Given the description of an element on the screen output the (x, y) to click on. 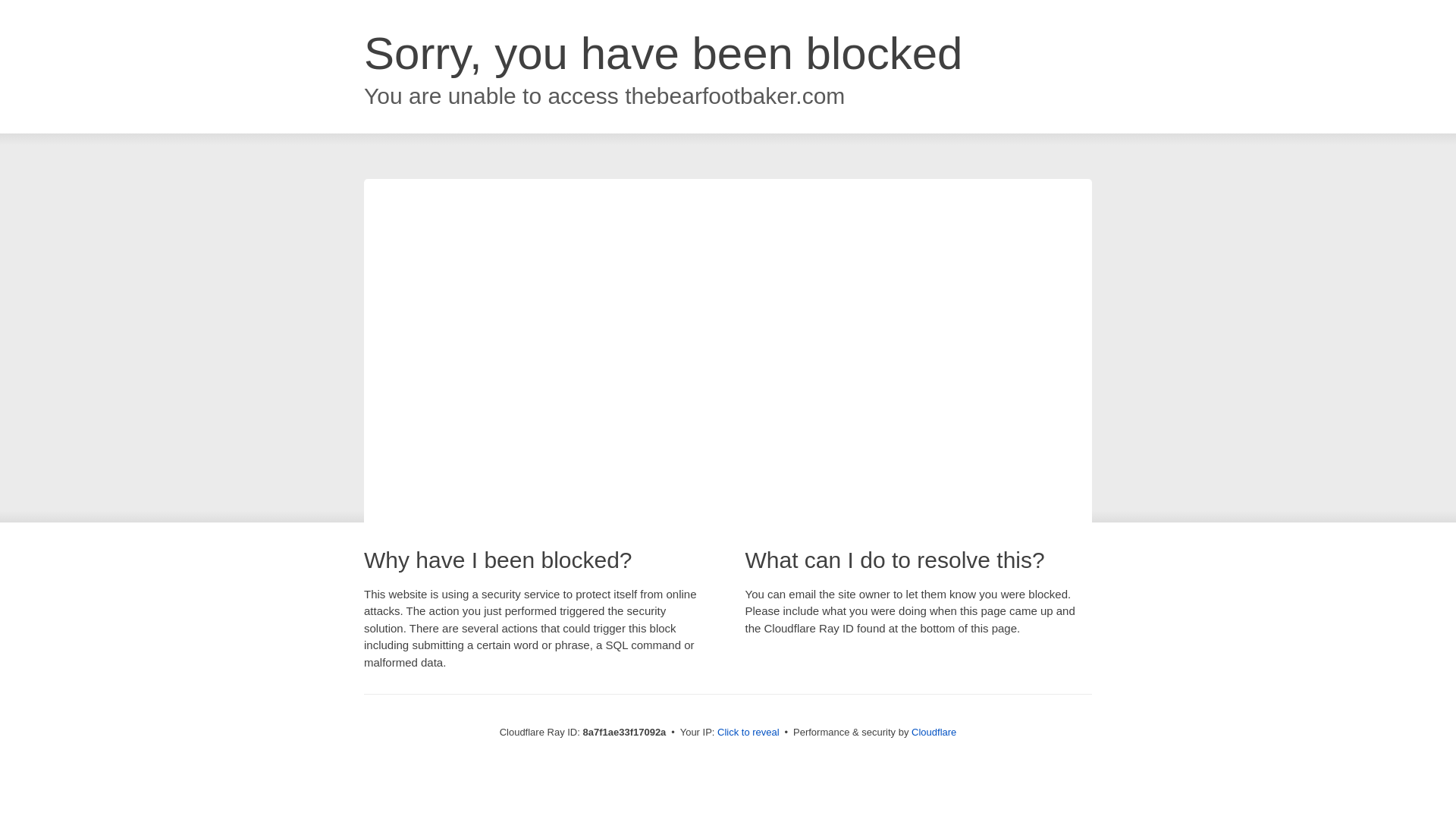
Click to reveal (747, 732)
Cloudflare (933, 731)
